Given the description of an element on the screen output the (x, y) to click on. 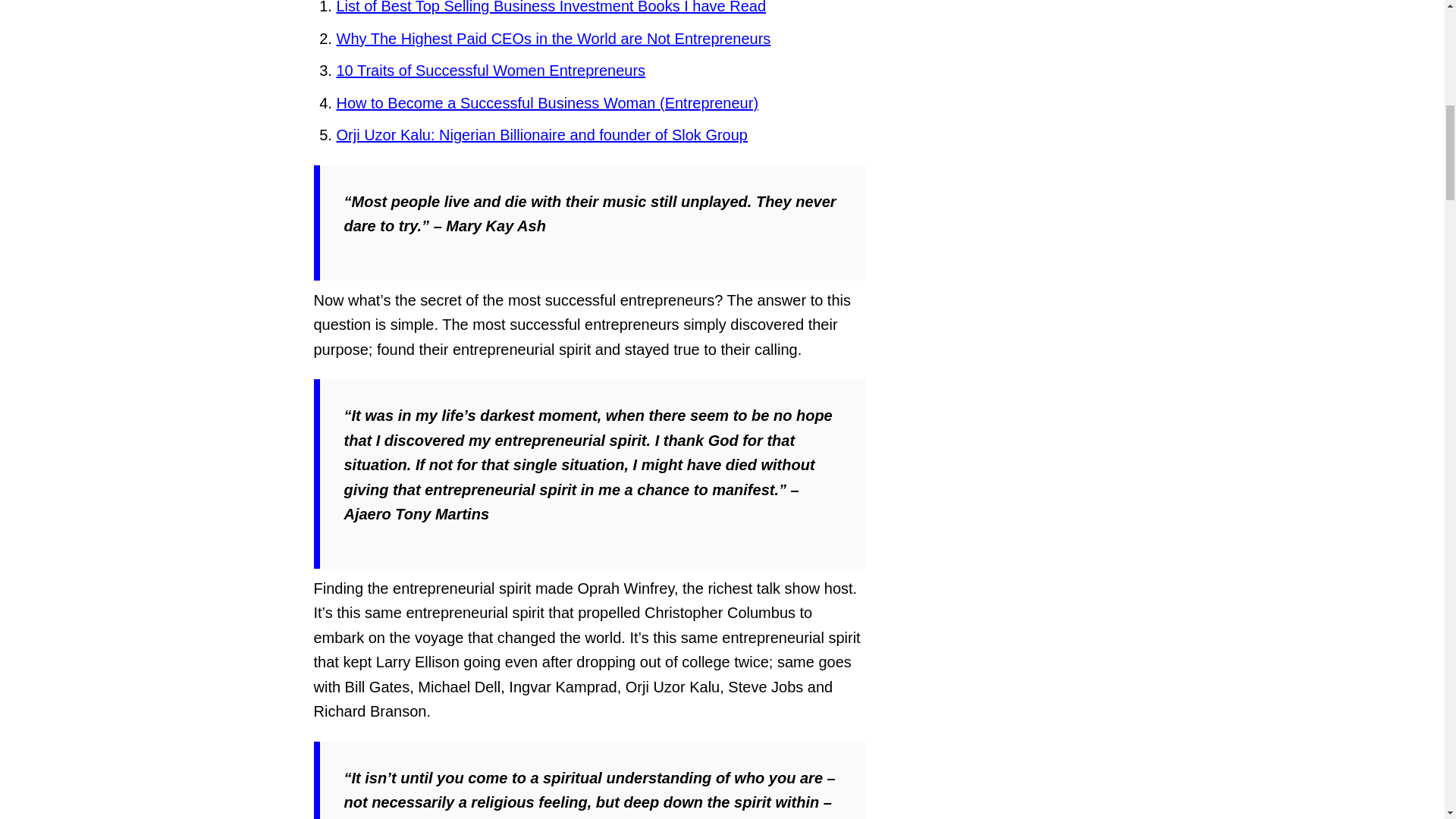
Why The Highest Paid CEOs in the World are Not Entrepreneurs (553, 38)
10 Traits of Successful Women Entrepreneurs (491, 70)
Why The Highest Paid CEOs in the World are Not Entrepreneurs (553, 38)
10 Traits of Successful Women Entrepreneurs (491, 70)
